Given the description of an element on the screen output the (x, y) to click on. 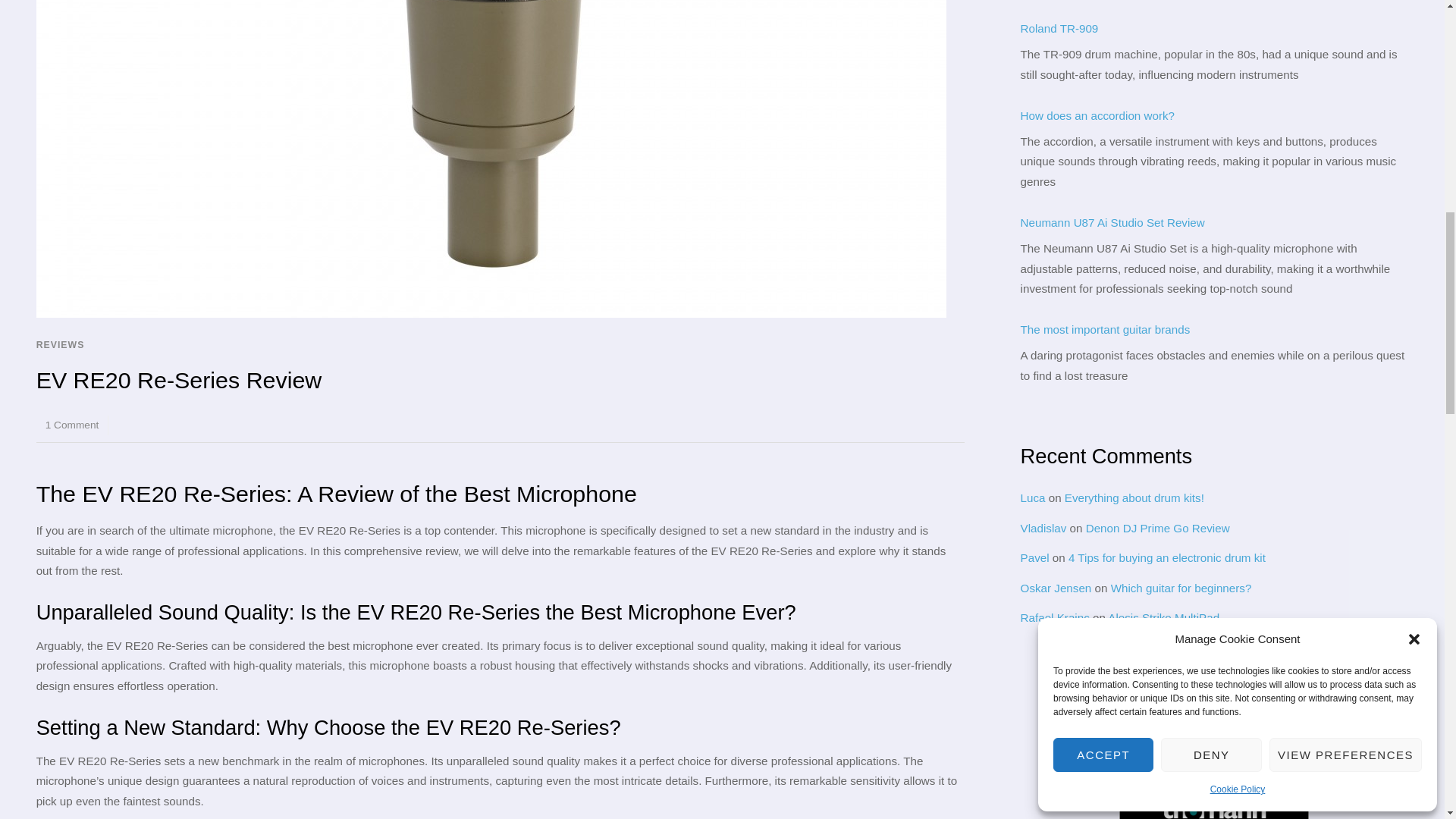
EV RE20 Re-Series Review (178, 379)
1 Comment (72, 424)
REVIEWS (60, 344)
